Given the description of an element on the screen output the (x, y) to click on. 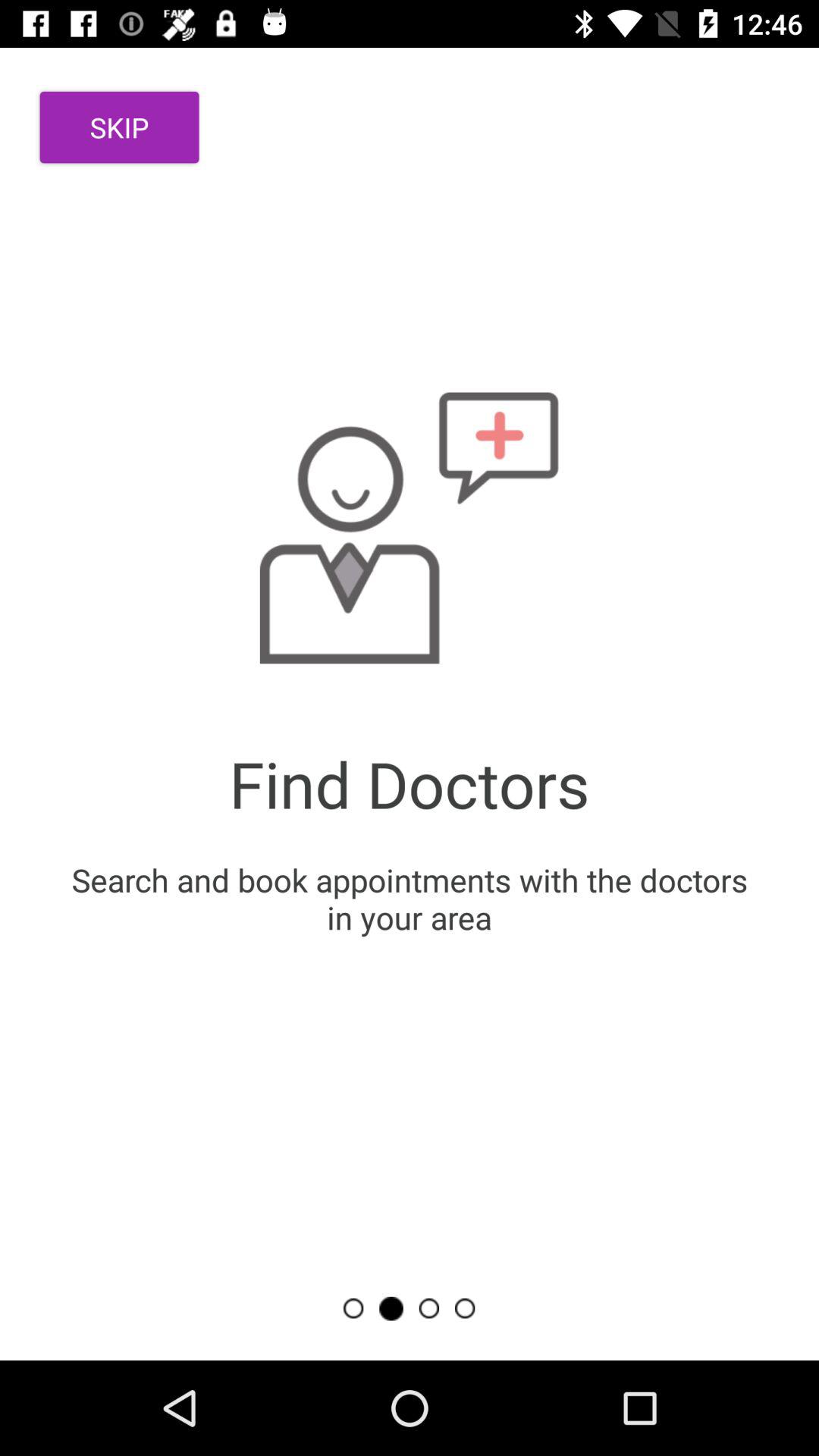
press item above search and book icon (119, 127)
